Given the description of an element on the screen output the (x, y) to click on. 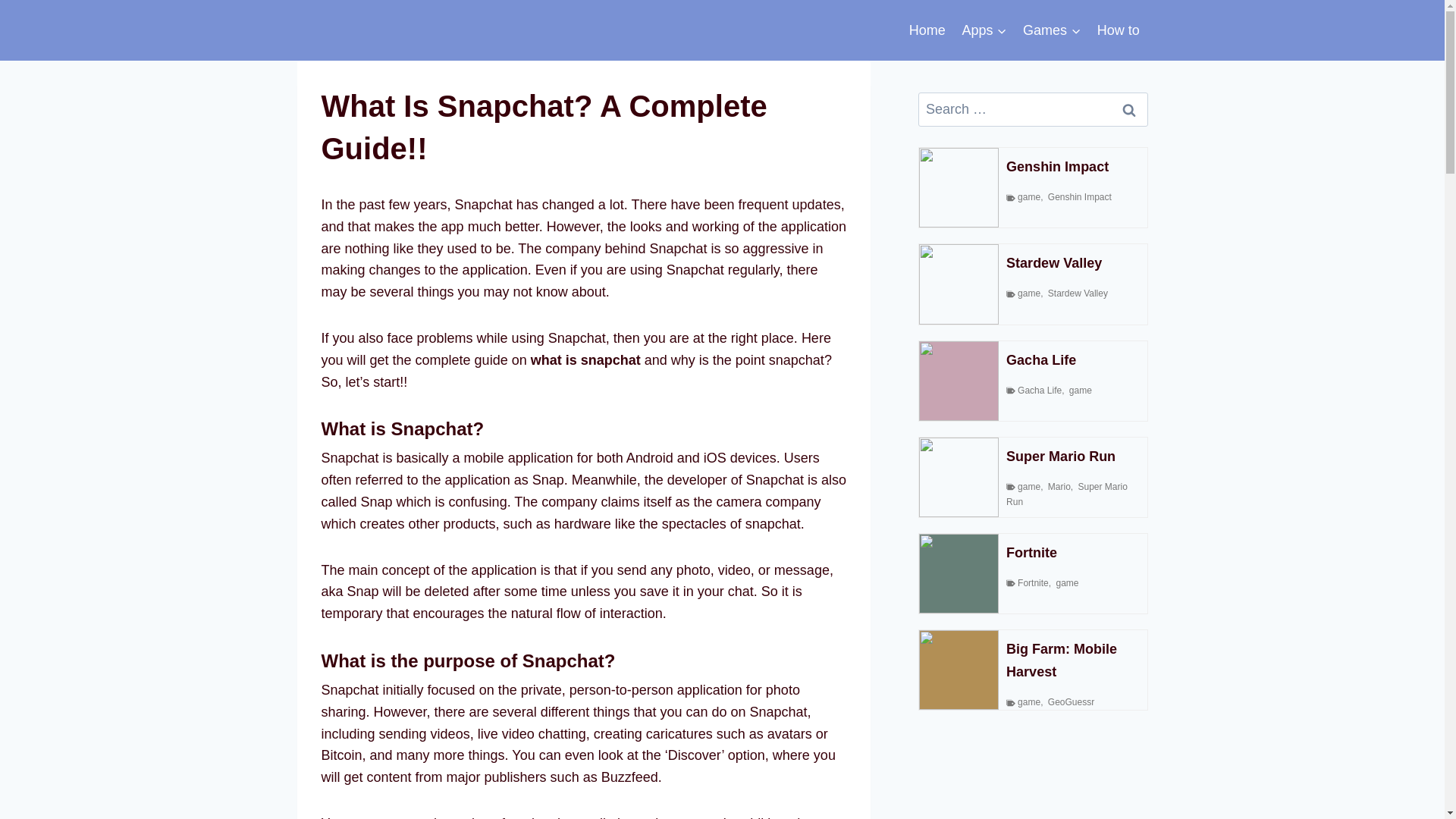
Apps (983, 29)
Games (1051, 29)
Search (1128, 109)
Search (1128, 109)
How to (1118, 29)
Home (927, 29)
